Given the description of an element on the screen output the (x, y) to click on. 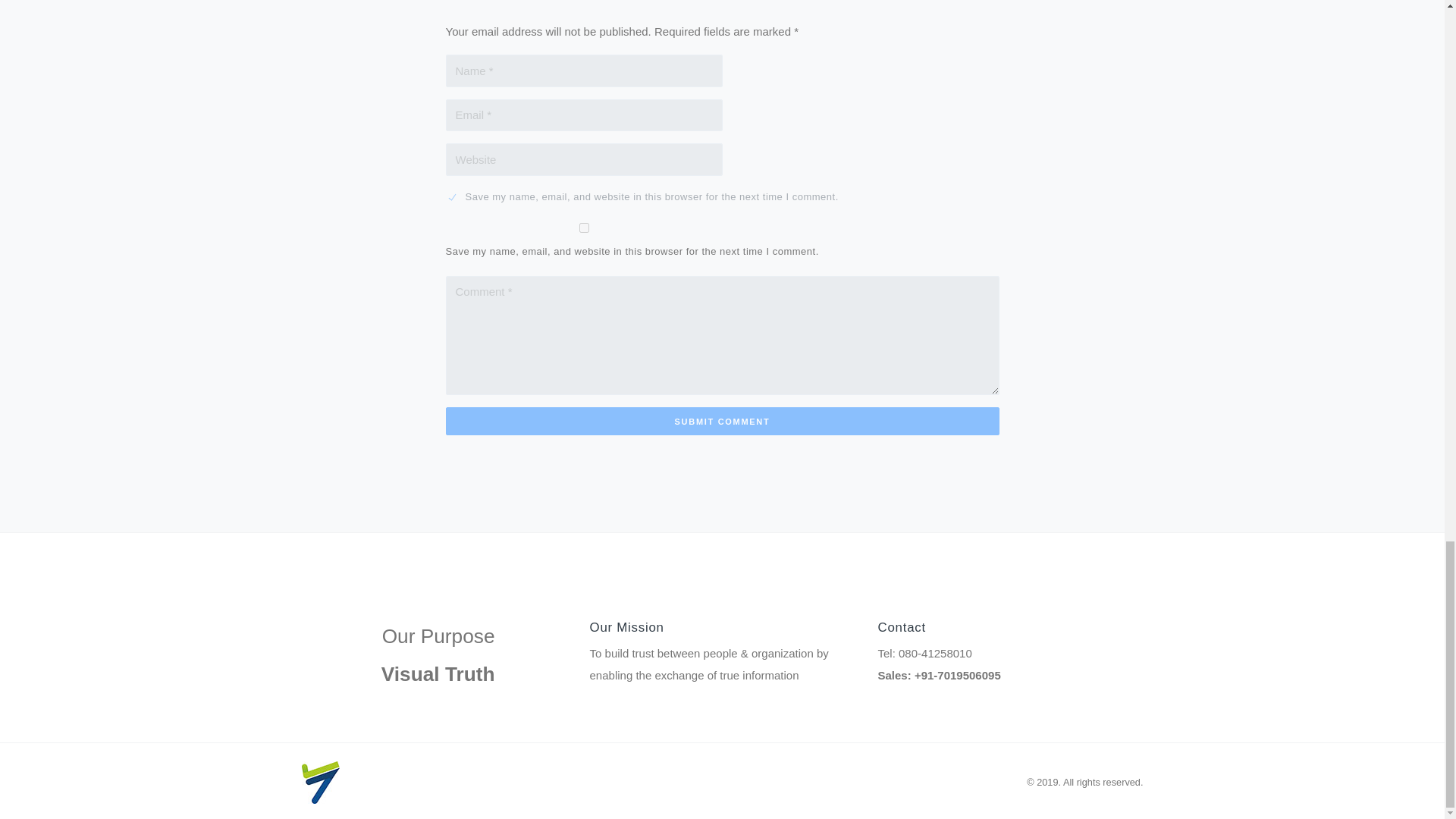
Submit Comment (721, 420)
yes (583, 227)
Submit Comment (721, 420)
